Given the description of an element on the screen output the (x, y) to click on. 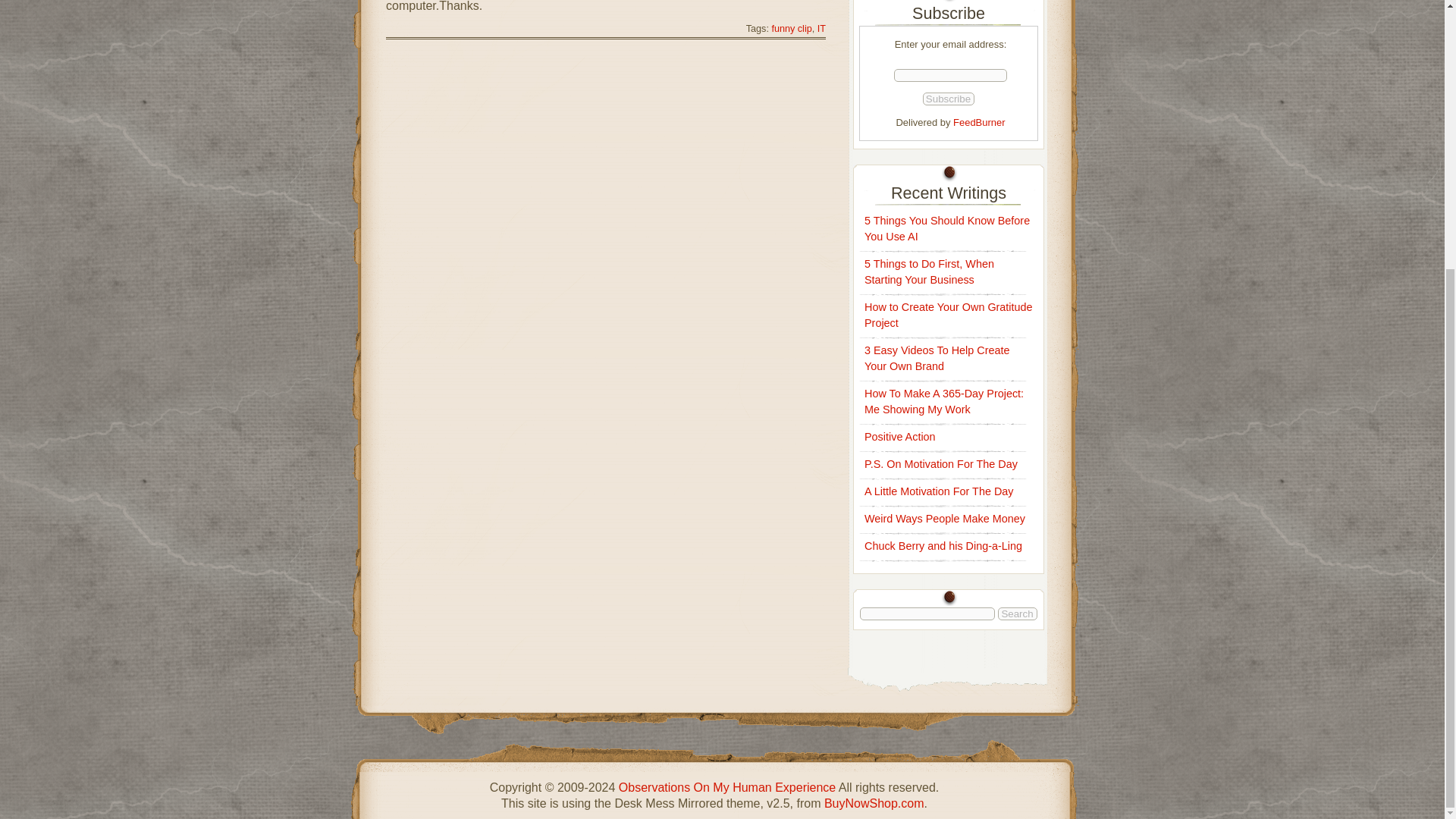
Chuck Berry and his Ding-a-Ling (943, 545)
5 Things to Do First, When Starting Your Business (929, 271)
P.S. On Motivation For The Day (940, 463)
Subscribe (948, 98)
Observations On My Human Experience (726, 787)
How to Create Your Own Gratitude Project (948, 315)
Search (1016, 613)
Subscribe (948, 98)
BuyNowShop.com (874, 802)
Positive Action (900, 436)
How To Make A 365-Day Project: Me Showing My Work (943, 401)
Weird Ways People Make Money (944, 518)
A Little Motivation For The Day (938, 491)
Search (1016, 613)
BuyNowShop.com (874, 802)
